Given the description of an element on the screen output the (x, y) to click on. 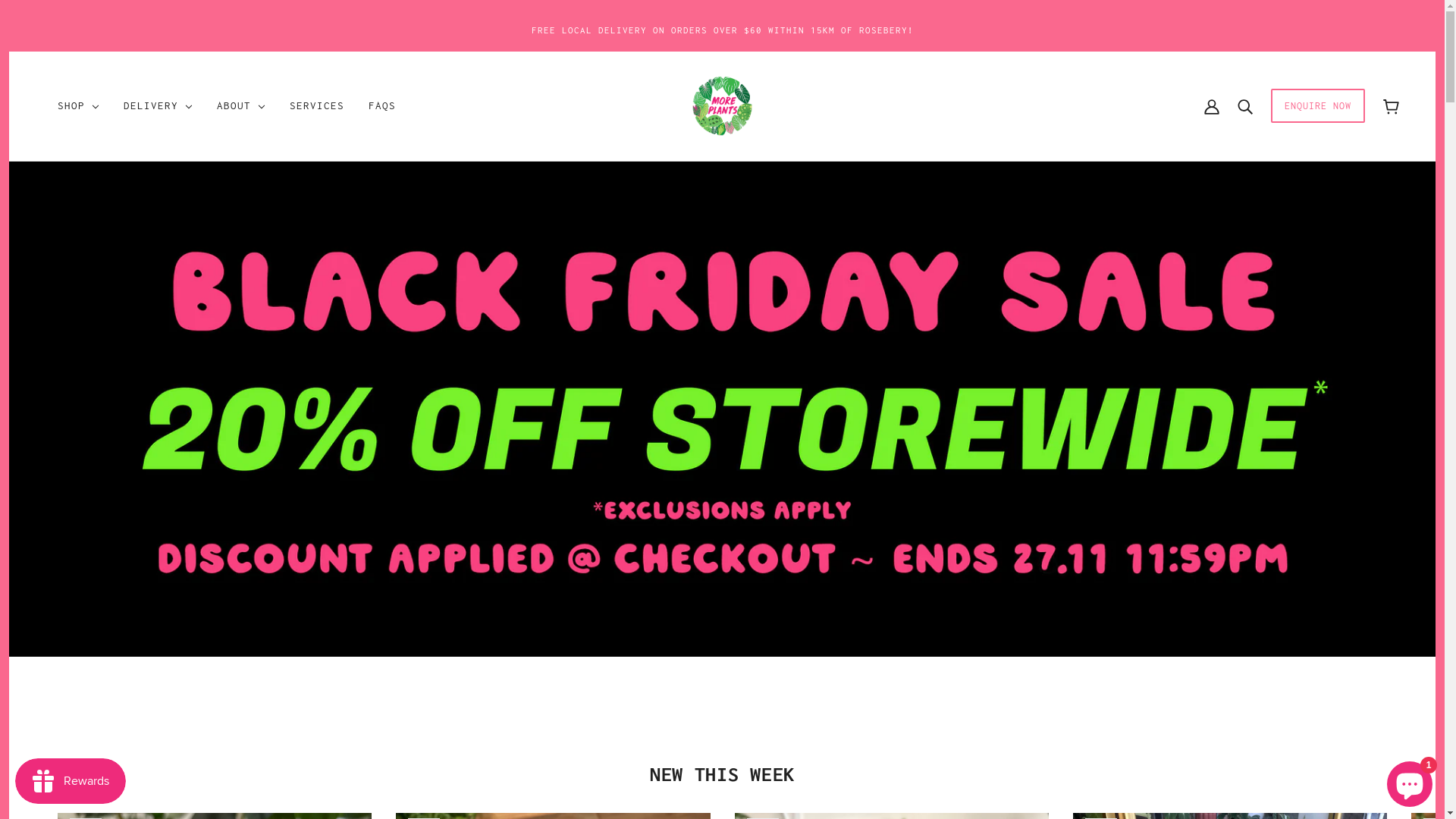
SHOP Element type: text (78, 105)
Shopify online store chat Element type: hover (1409, 780)
Smile.io Rewards Program Launcher Element type: hover (70, 780)
SERVICES Element type: text (316, 105)
FAQS Element type: text (381, 105)
DELIVERY Element type: text (157, 105)
ABOUT Element type: text (240, 105)
ENQUIRE NOW Element type: text (1317, 112)
NEW THIS WEEK Element type: text (721, 773)
